Given the description of an element on the screen output the (x, y) to click on. 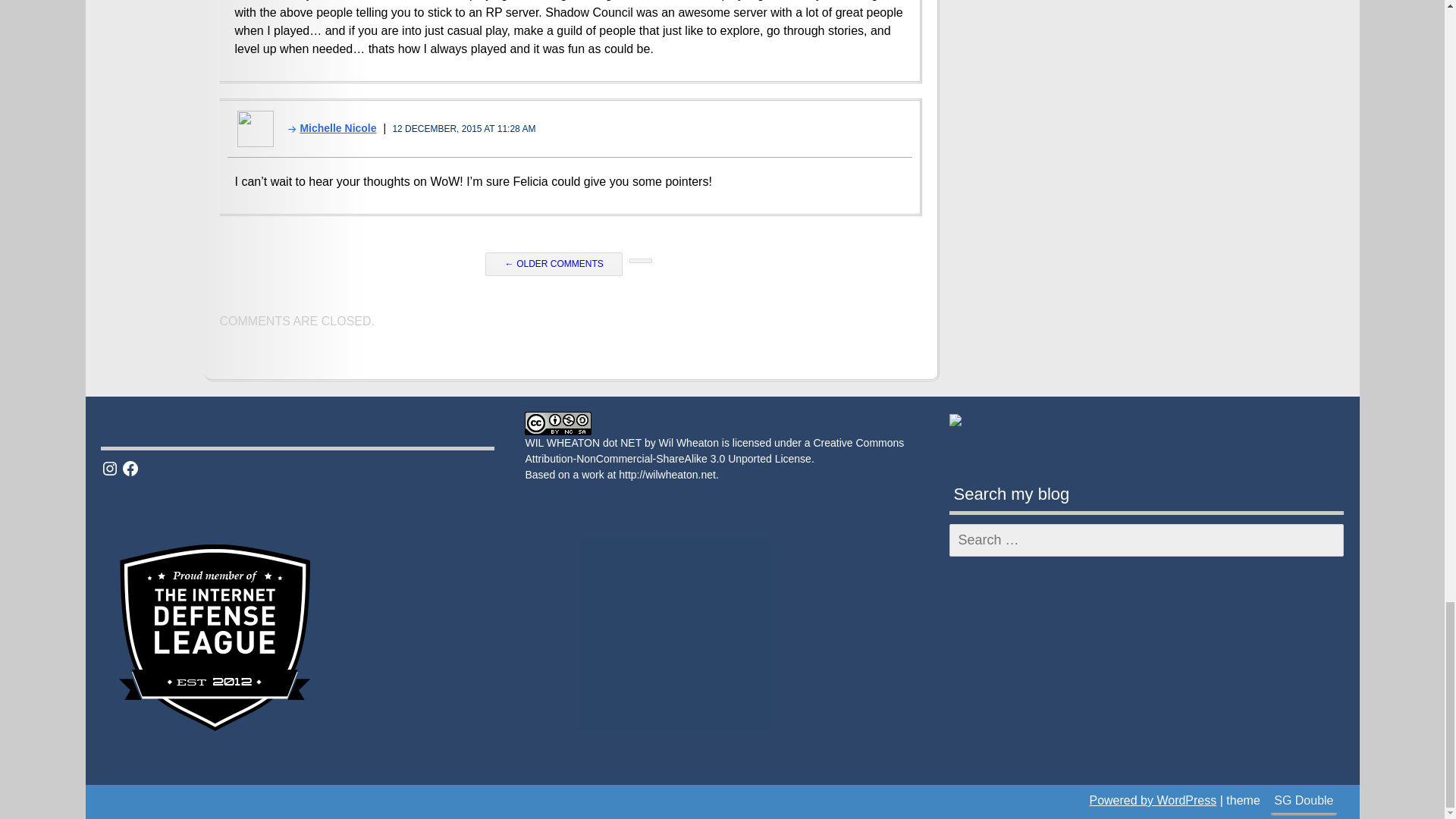
Michelle Nicole (326, 128)
12 DECEMBER, 2015 AT 11:28 AM (463, 128)
Wil Wheaton (689, 442)
Facebook (129, 468)
Instagram (108, 468)
